Given the description of an element on the screen output the (x, y) to click on. 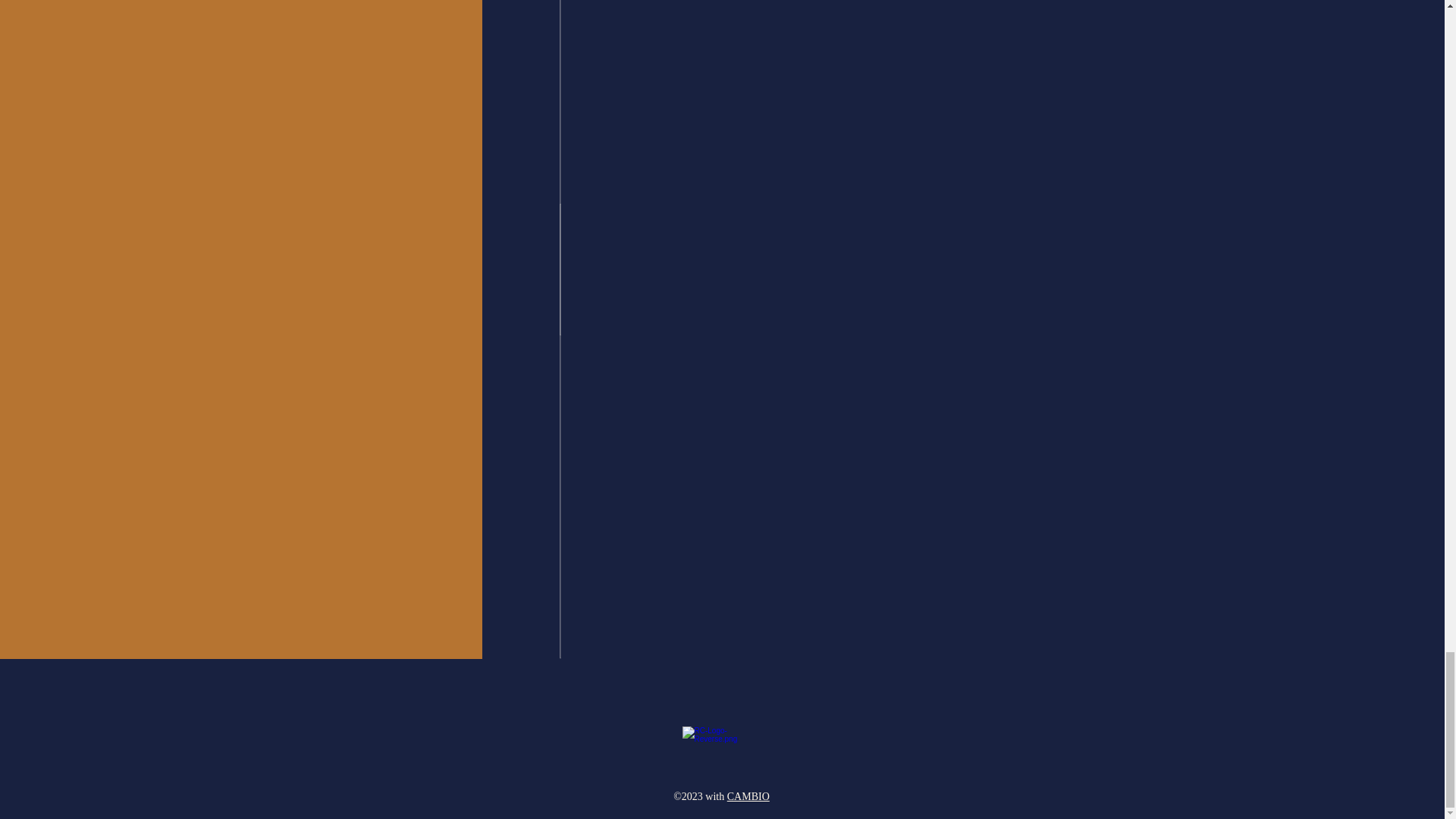
CAMBIO (748, 796)
